Given the description of an element on the screen output the (x, y) to click on. 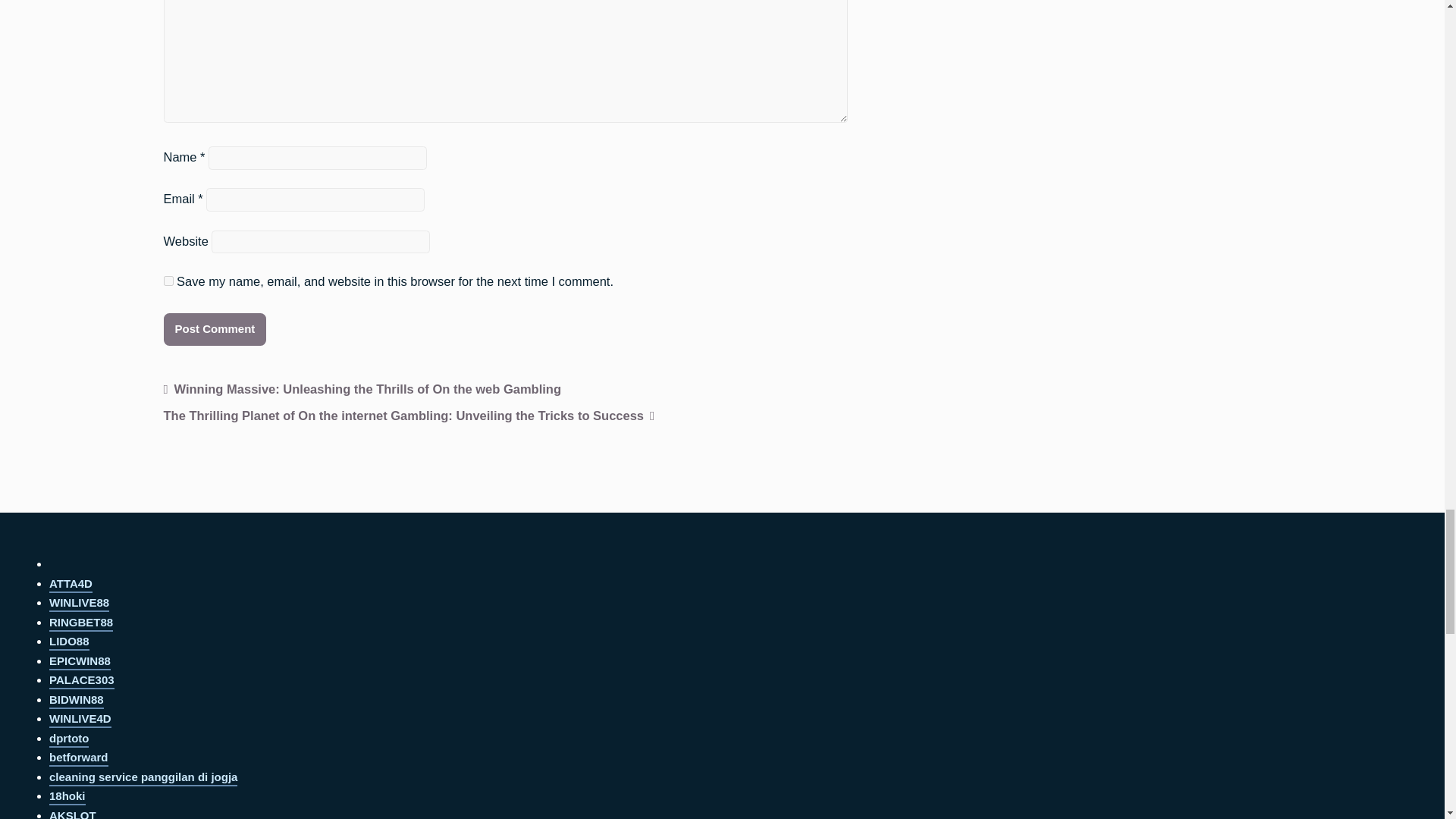
BIDWIN88 (76, 700)
AKSLOT (72, 814)
Post Comment (214, 328)
ATTA4D (71, 584)
Post Comment (214, 328)
EPICWIN88 (79, 662)
betforward (78, 758)
LIDO88 (68, 642)
yes (168, 280)
RINGBET88 (81, 623)
cleaning service panggilan di jogja (143, 778)
WINLIVE4D (80, 719)
PALACE303 (82, 681)
